Given the description of an element on the screen output the (x, y) to click on. 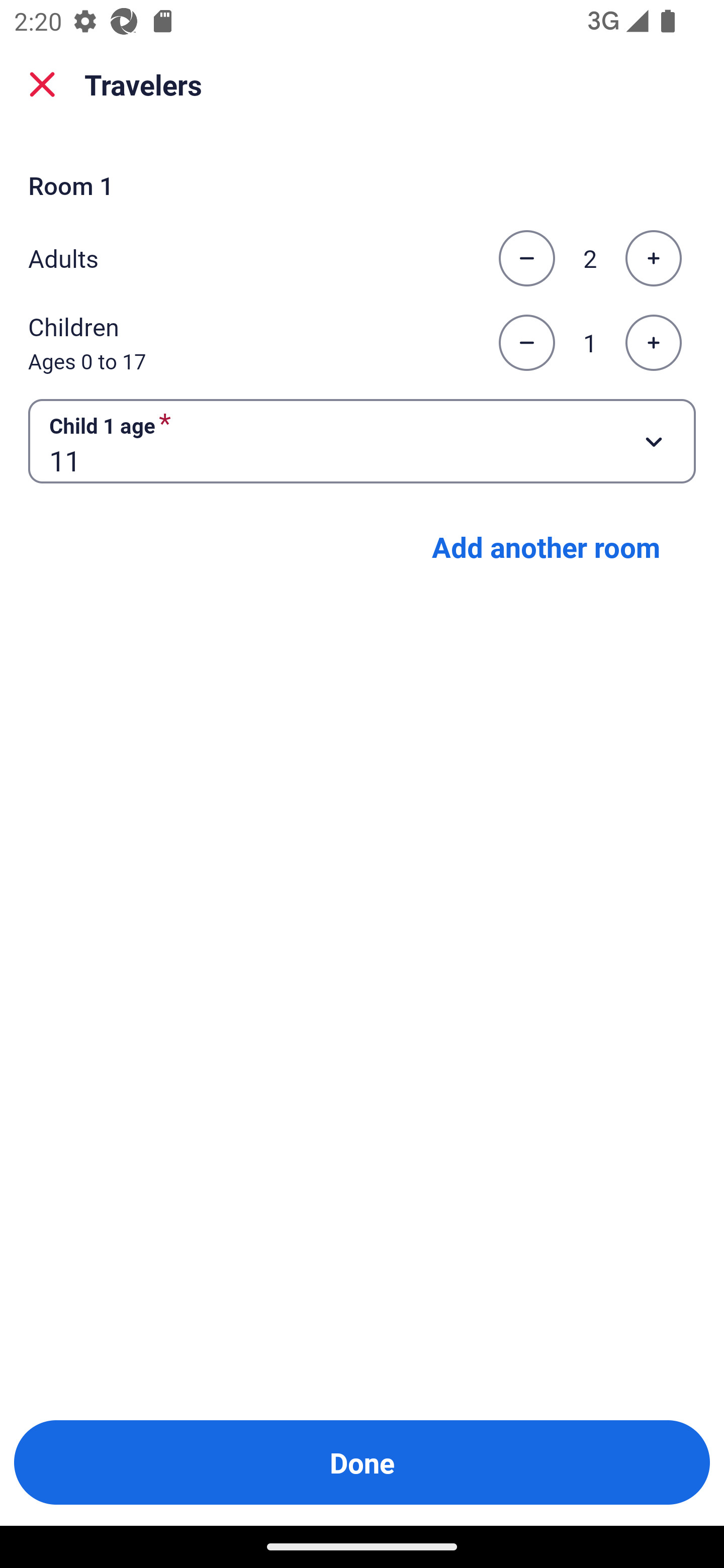
close (42, 84)
Decrease the number of adults (526, 258)
Increase the number of adults (653, 258)
Decrease the number of children (526, 343)
Increase the number of children (653, 343)
Child 1 age required Button 11 (361, 440)
Add another room (545, 546)
Done (361, 1462)
